Given the description of an element on the screen output the (x, y) to click on. 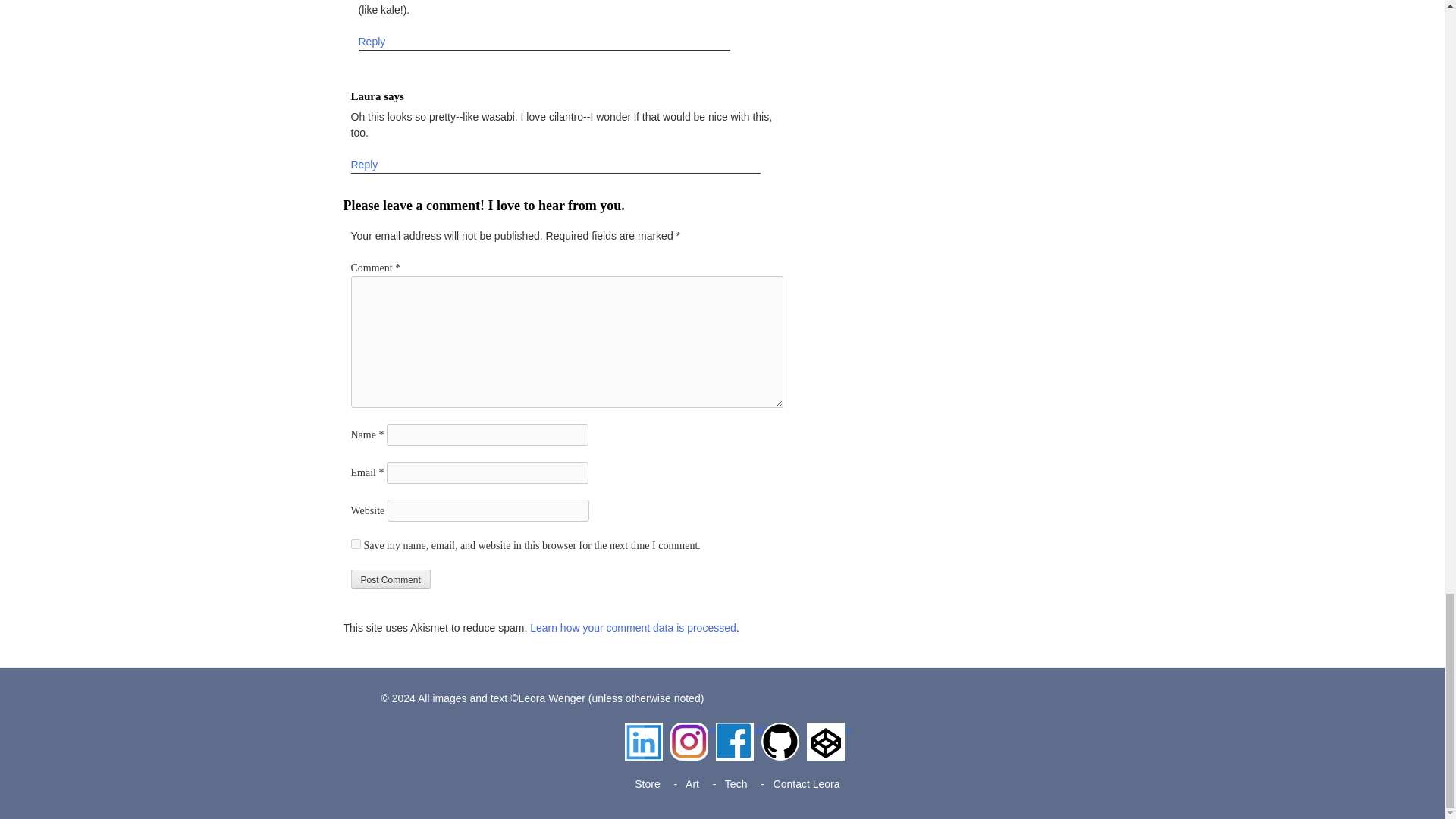
Learn how your comment data is processed (632, 627)
Reply (371, 42)
Post Comment (389, 578)
Reply (363, 164)
Post Comment (389, 578)
yes (354, 543)
